Given the description of an element on the screen output the (x, y) to click on. 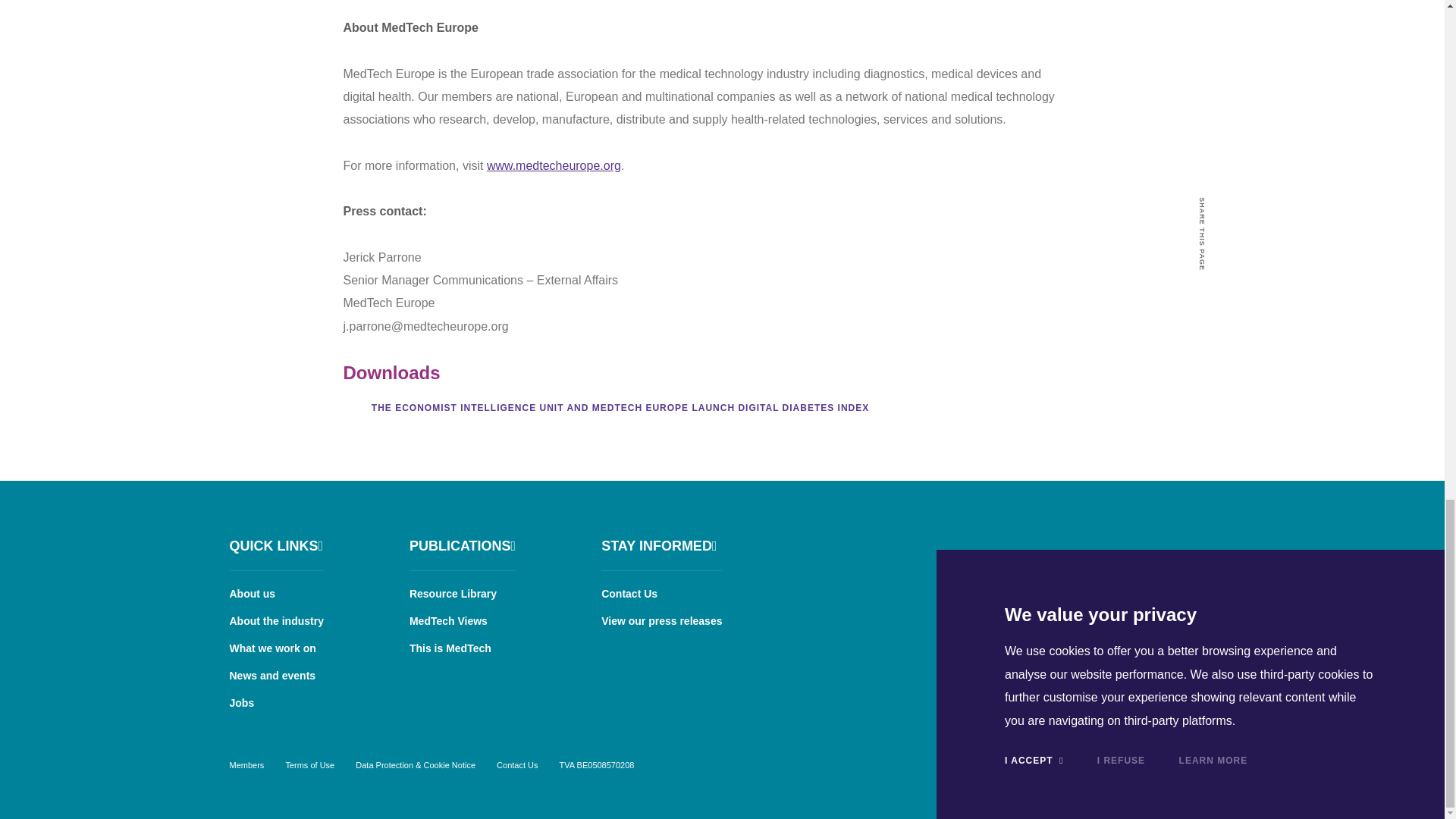
Share on Twitter (1202, 324)
Linkedin (1114, 543)
Share on Email (1202, 378)
Share on Facebook (1202, 351)
Share on Linkedin (1202, 296)
Youtube (1197, 543)
Facebook (1072, 543)
Twitter (1155, 543)
Print (1202, 406)
